Given the description of an element on the screen output the (x, y) to click on. 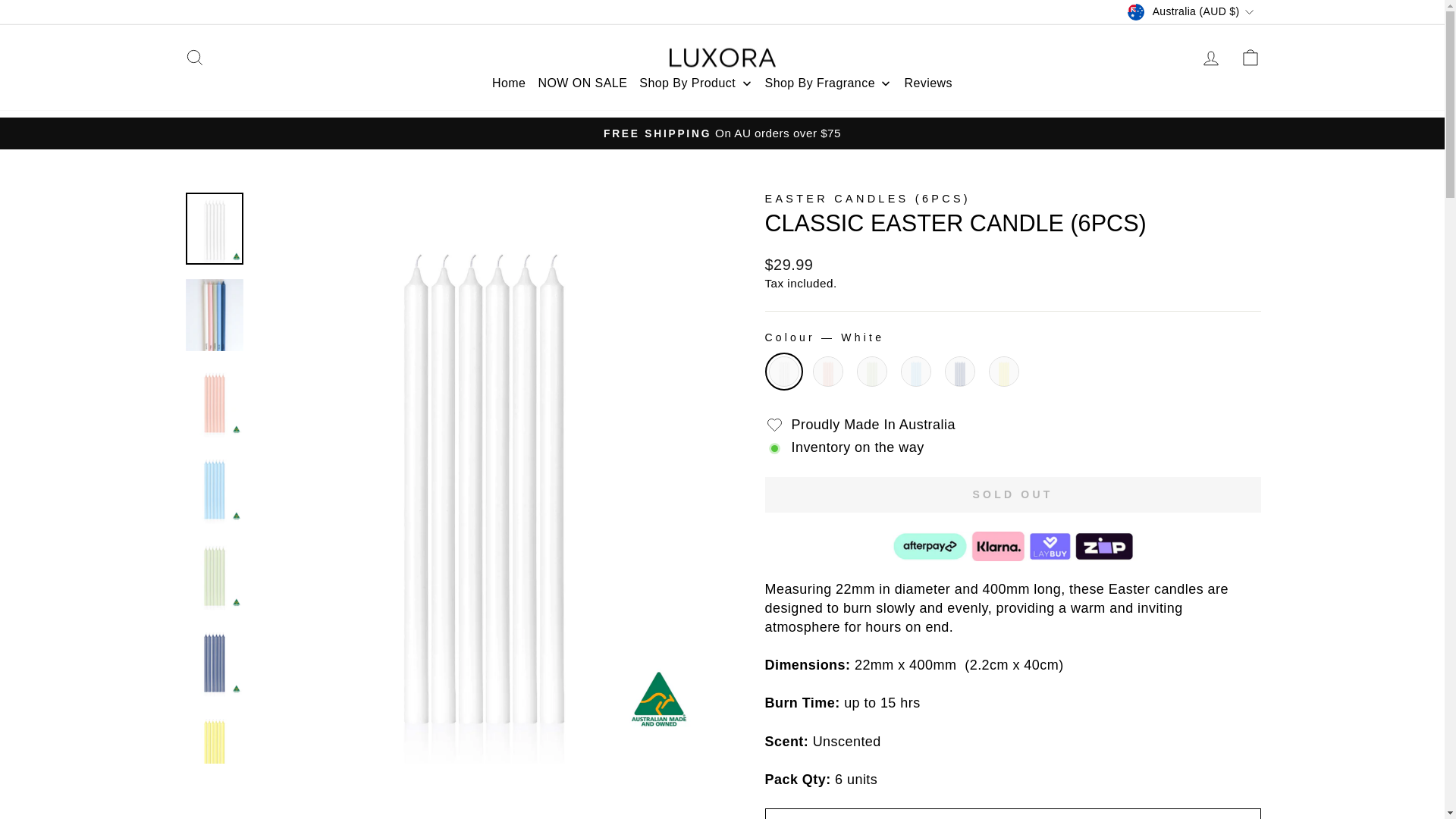
ICON-SEARCH (194, 56)
ACCOUNT (1210, 57)
ICON-BAG-MINIMAL (1249, 56)
